Given the description of an element on the screen output the (x, y) to click on. 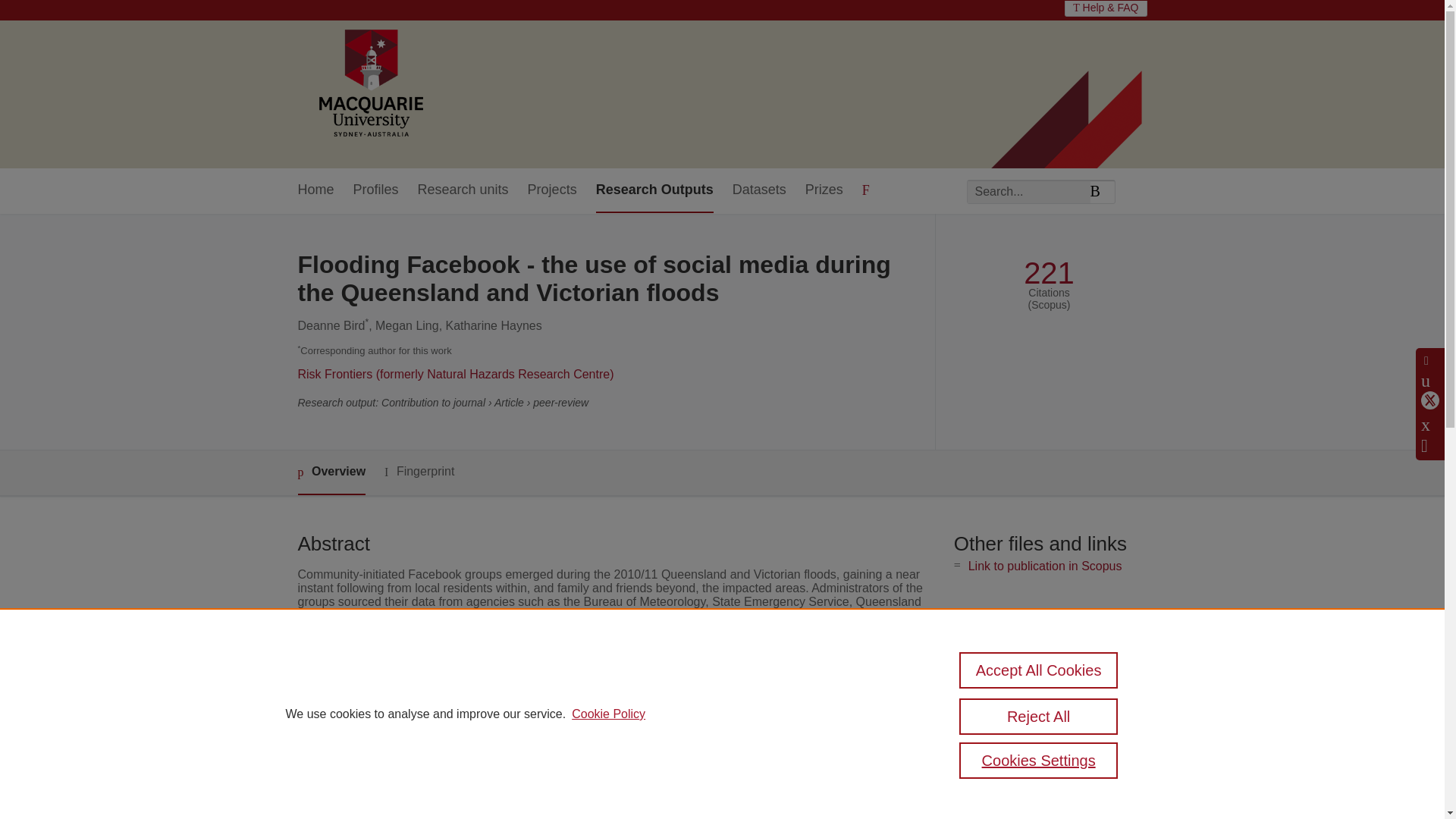
Projects (551, 190)
Macquarie University Home (369, 84)
Link to publication in Scopus (1045, 565)
Research Outputs (654, 190)
Fingerprint (419, 471)
Research units (462, 190)
Profiles (375, 190)
Overview (331, 472)
Datasets (759, 190)
221 (1048, 273)
